Given the description of an element on the screen output the (x, y) to click on. 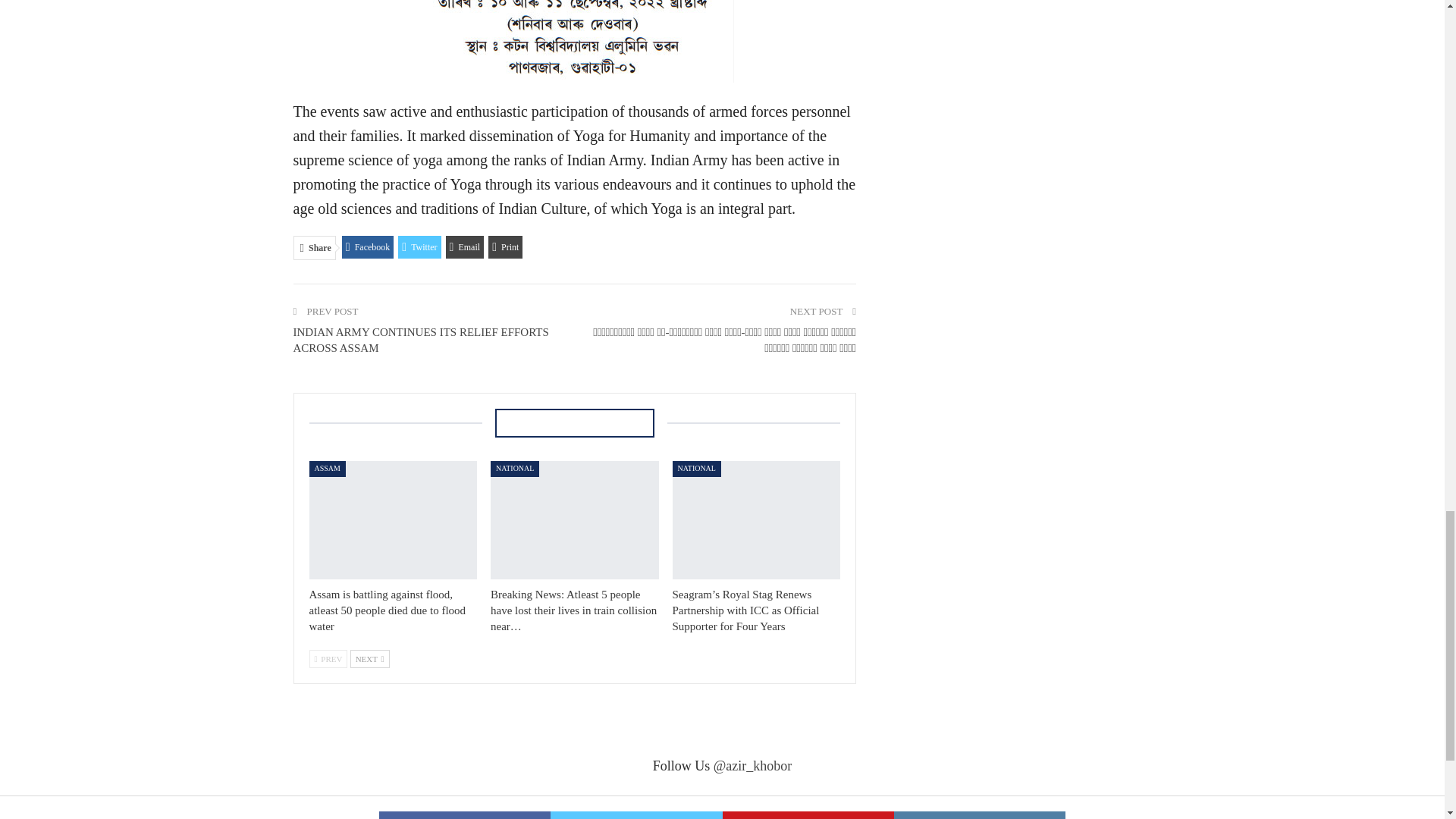
Email (464, 246)
Facebook (368, 246)
Print (504, 246)
Twitter (419, 246)
Previous (327, 659)
Next (370, 659)
ASSAM (327, 468)
INDIAN ARMY CONTINUES ITS RELIEF EFFORTS ACROSS ASSAM (420, 339)
